Given the description of an element on the screen output the (x, y) to click on. 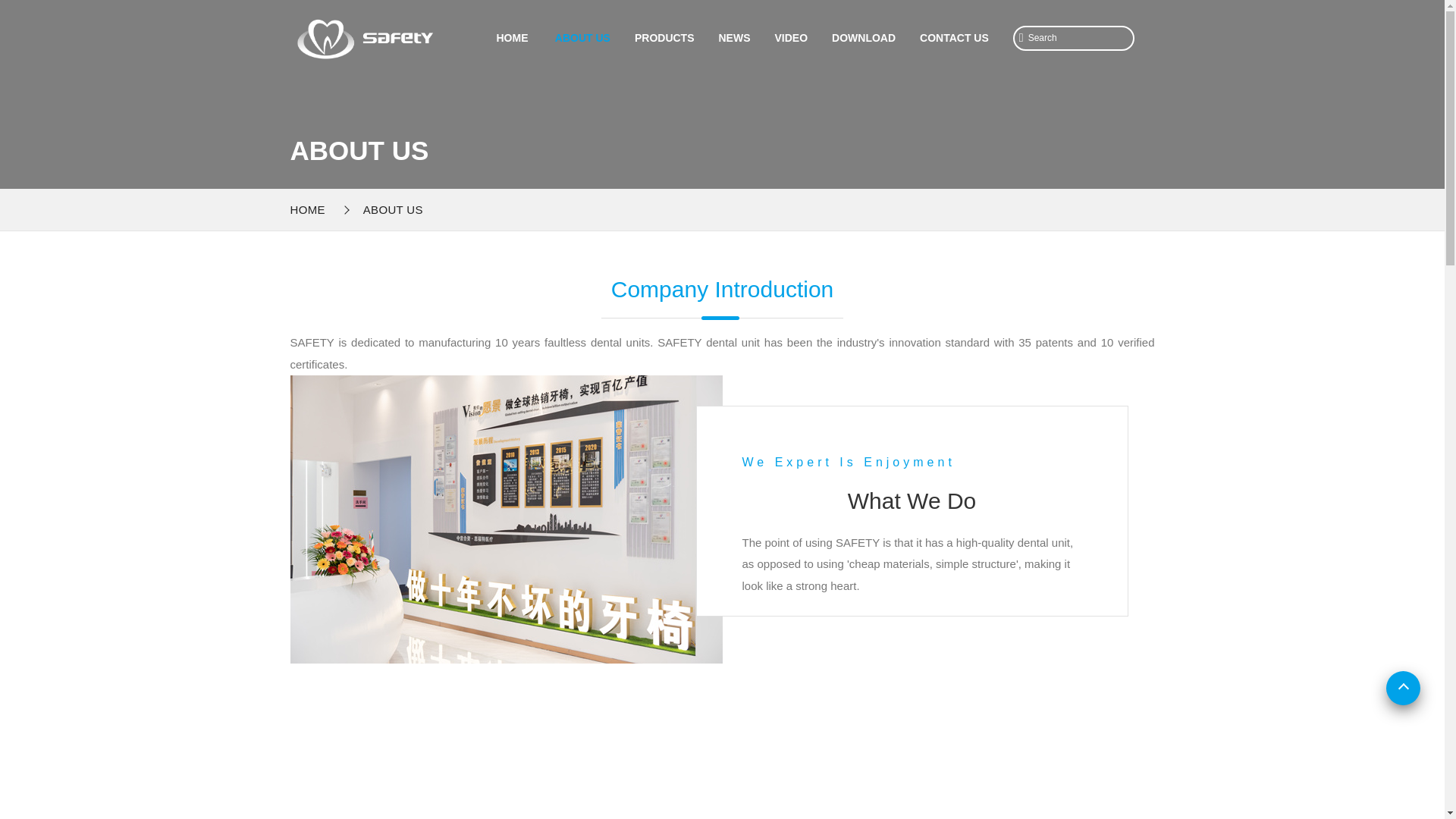
CONTACT US (954, 38)
CONTACT US (954, 38)
FOSHAN SAFETY MEDICAL EQUIPMENT CO.,LTD. (310, 209)
HOME (310, 209)
ABOUT US (392, 209)
FOSHAN SAFETY MEDICAL EQUIPMENT CO.,LTD. (362, 30)
ABOUT US (392, 209)
